Given the description of an element on the screen output the (x, y) to click on. 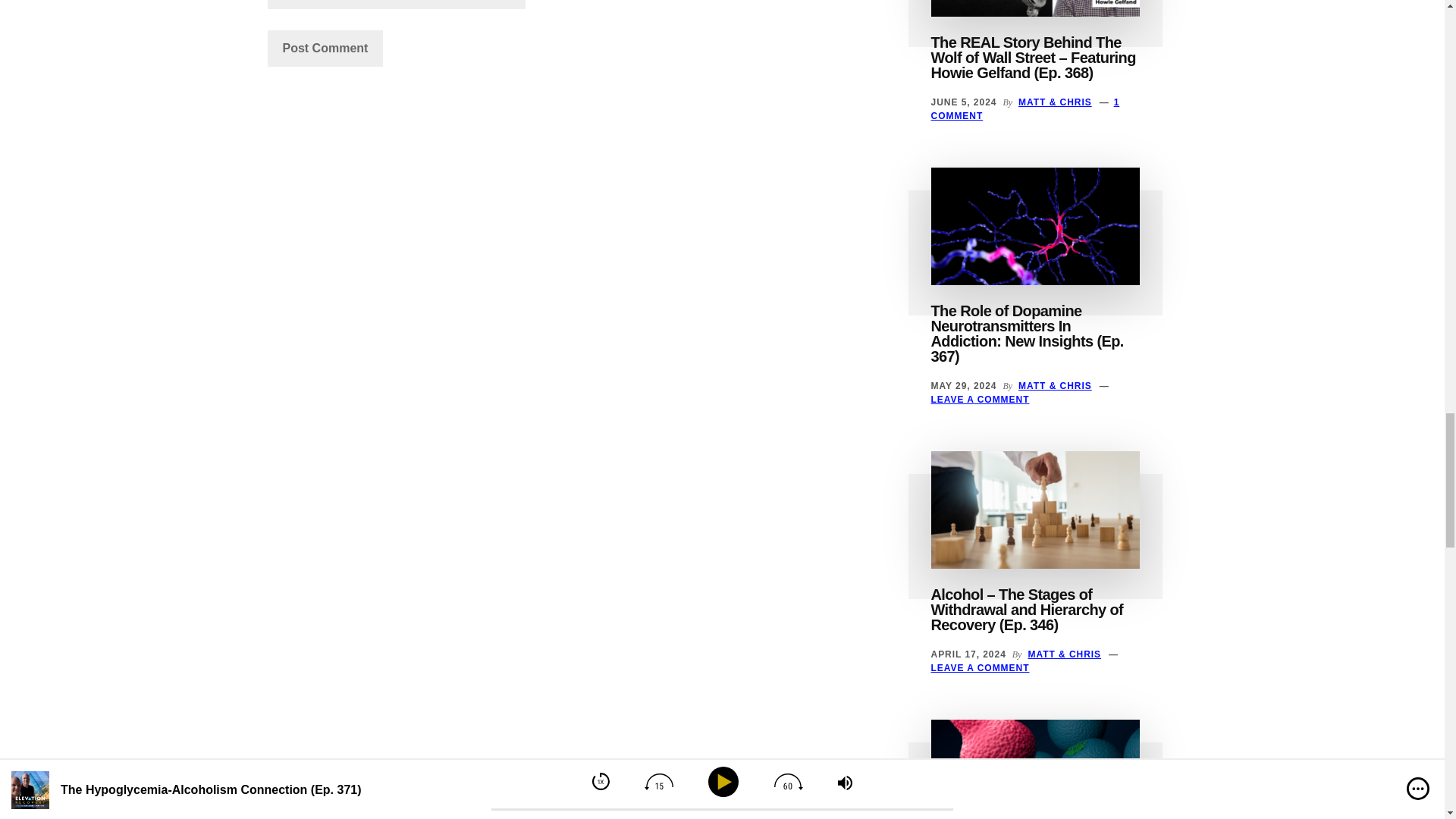
Post Comment (324, 48)
Post Comment (324, 48)
